Given the description of an element on the screen output the (x, y) to click on. 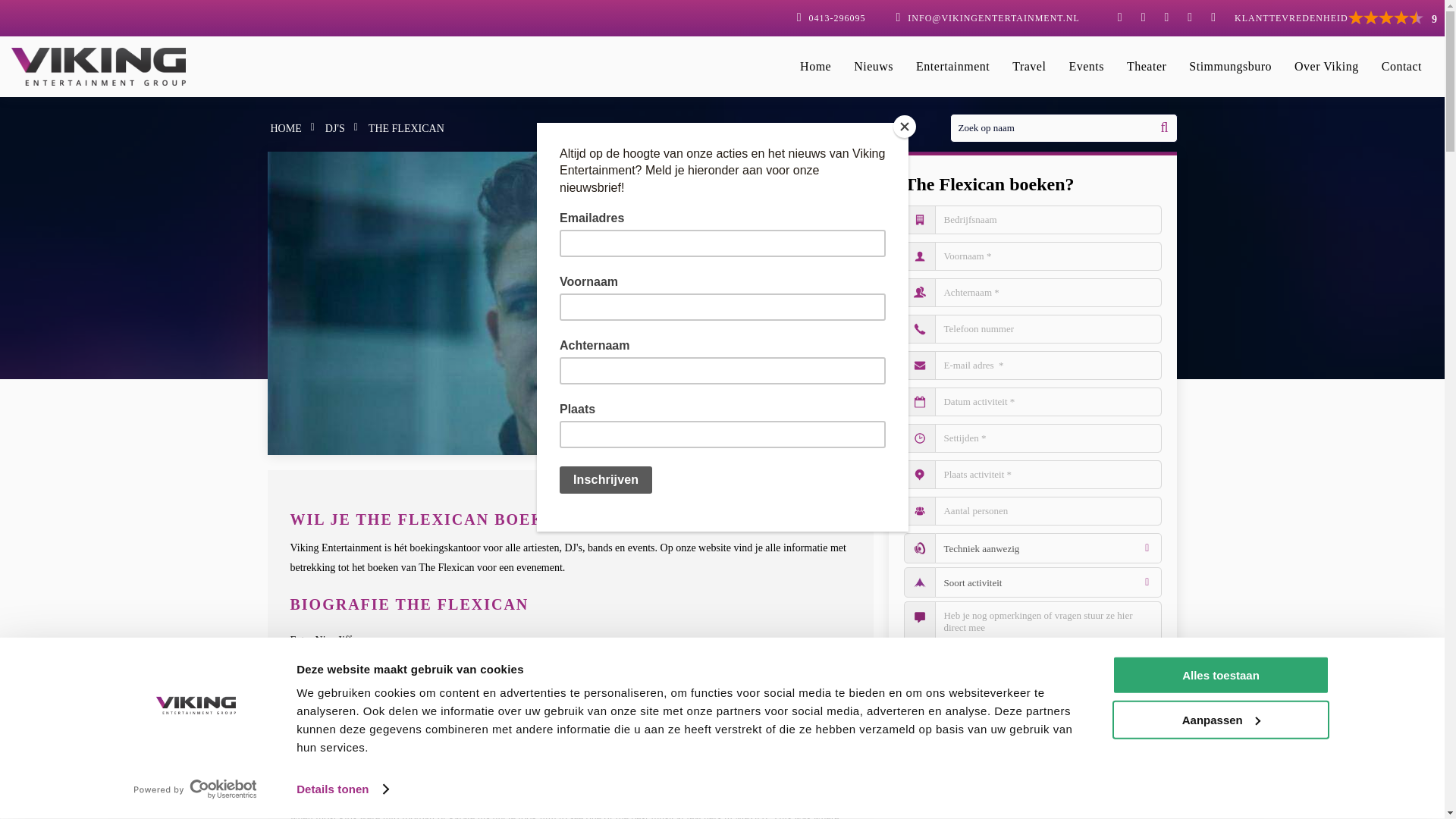
The Flexican (405, 128)
Details tonen (342, 789)
Home (284, 128)
